Given the description of an element on the screen output the (x, y) to click on. 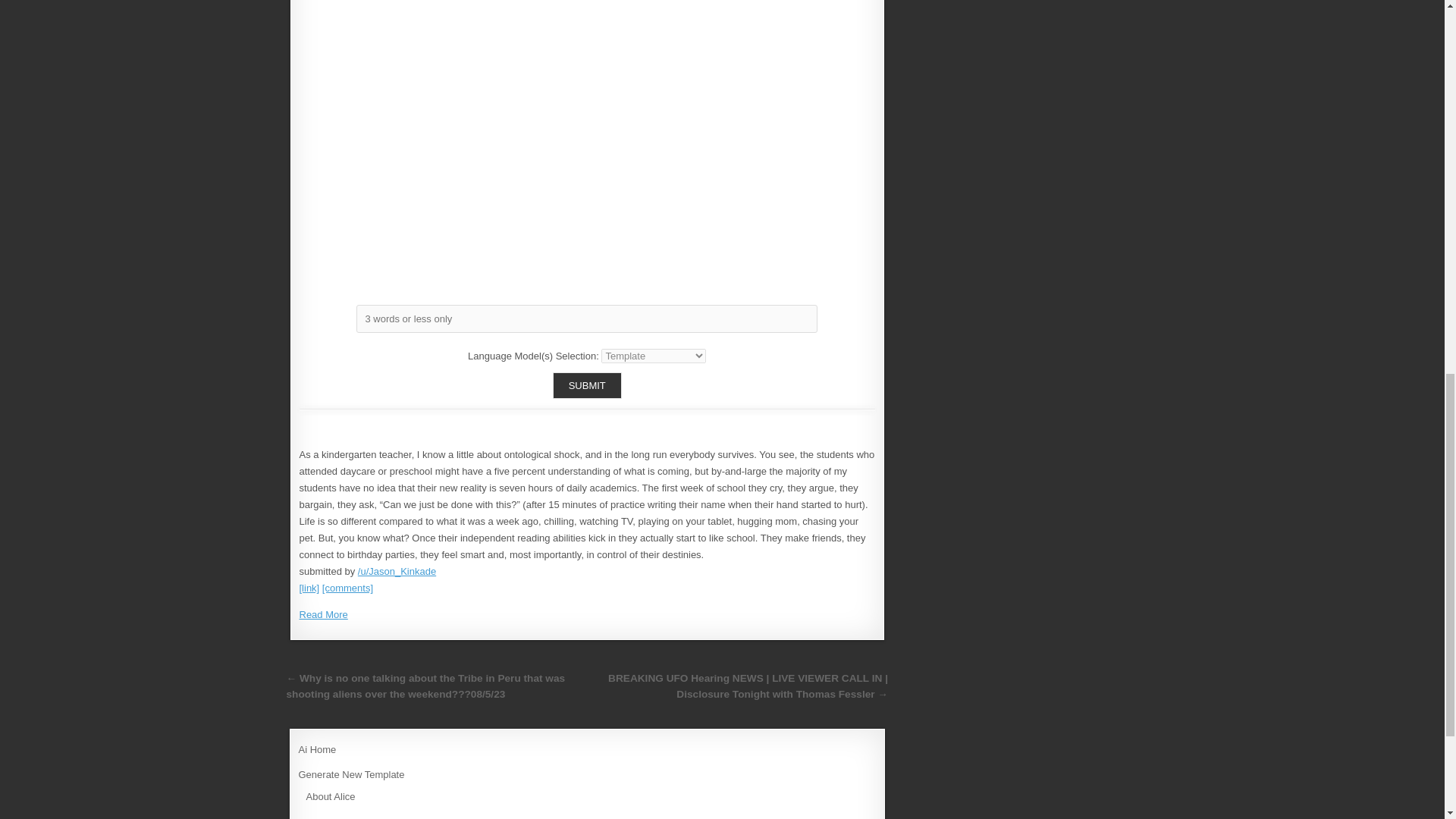
About Alice (330, 796)
SUBMIT (587, 385)
Ai Home (317, 749)
Read More (322, 614)
Generate New Template (351, 774)
Subreddit (327, 818)
